Given the description of an element on the screen output the (x, y) to click on. 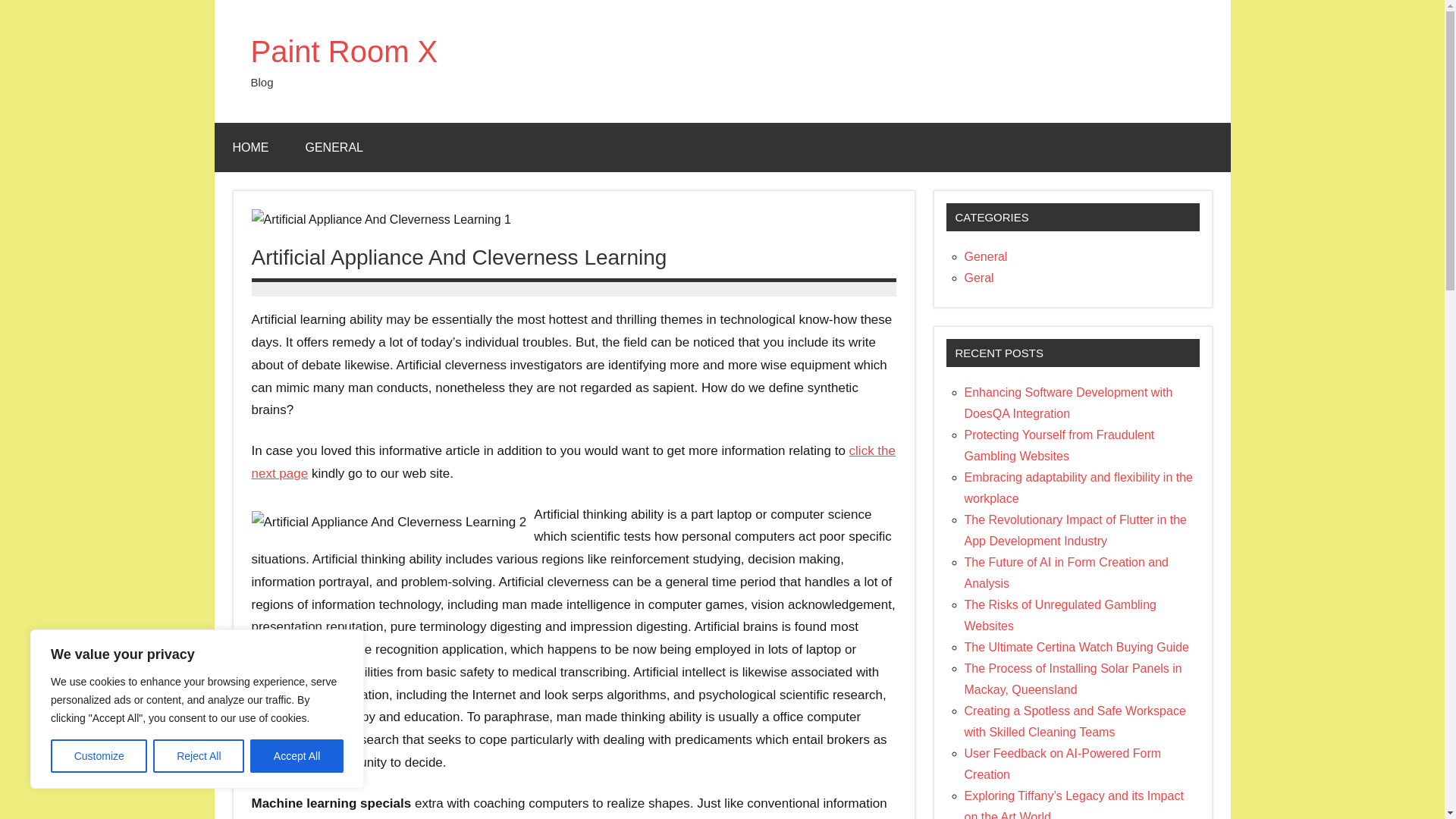
The Future of AI in Form Creation and Analysis (1066, 572)
Accept All (296, 756)
The Risks of Unregulated Gambling Websites (1059, 615)
Protecting Yourself from Fraudulent Gambling Websites (1058, 445)
General (985, 256)
Embracing adaptability and flexibility in the workplace (1078, 487)
Enhancing Software Development with DoesQA Integration (1068, 402)
Reject All (198, 756)
Paint Room X (344, 51)
